Given the description of an element on the screen output the (x, y) to click on. 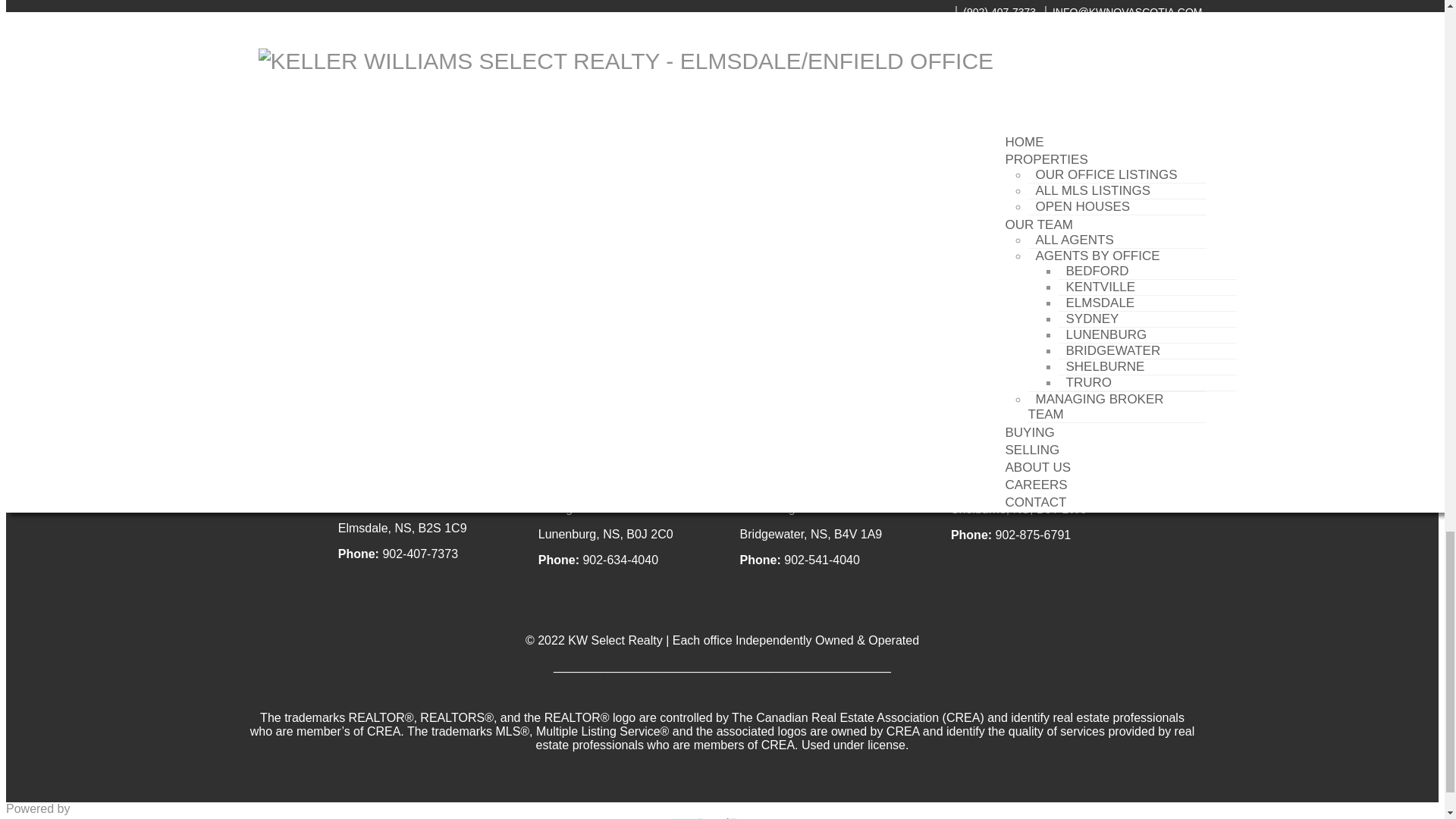
myRealPage.com (722, 817)
